Given the description of an element on the screen output the (x, y) to click on. 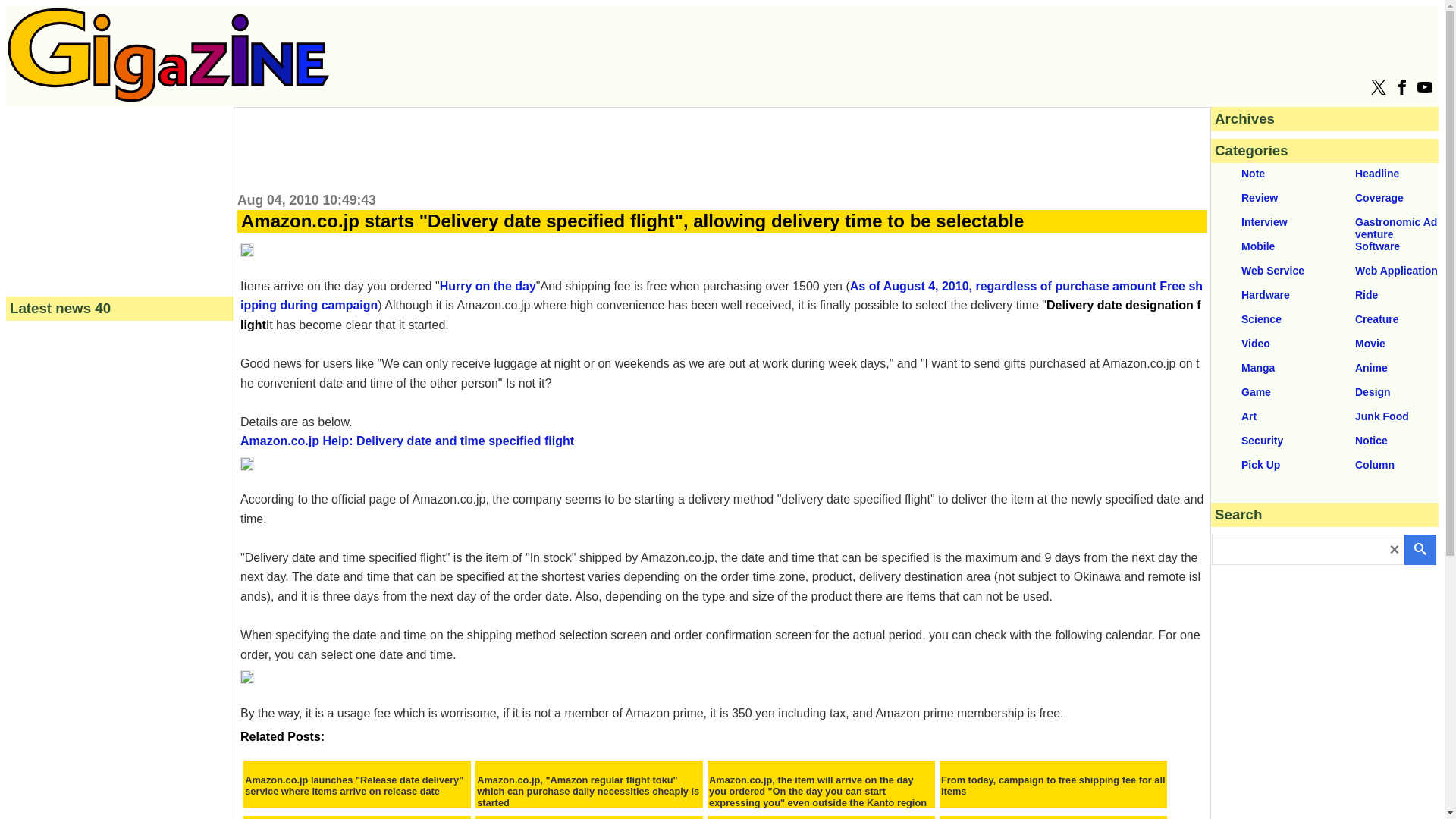
Amazon.co.jp Help: Delivery date and time specified flight (406, 450)
GIGAZINE (168, 97)
Hurry on the day (487, 286)
From today, campaign to free shipping fee for all items (1053, 784)
Note (1267, 175)
Review (1267, 199)
Mobile (1267, 248)
